Given the description of an element on the screen output the (x, y) to click on. 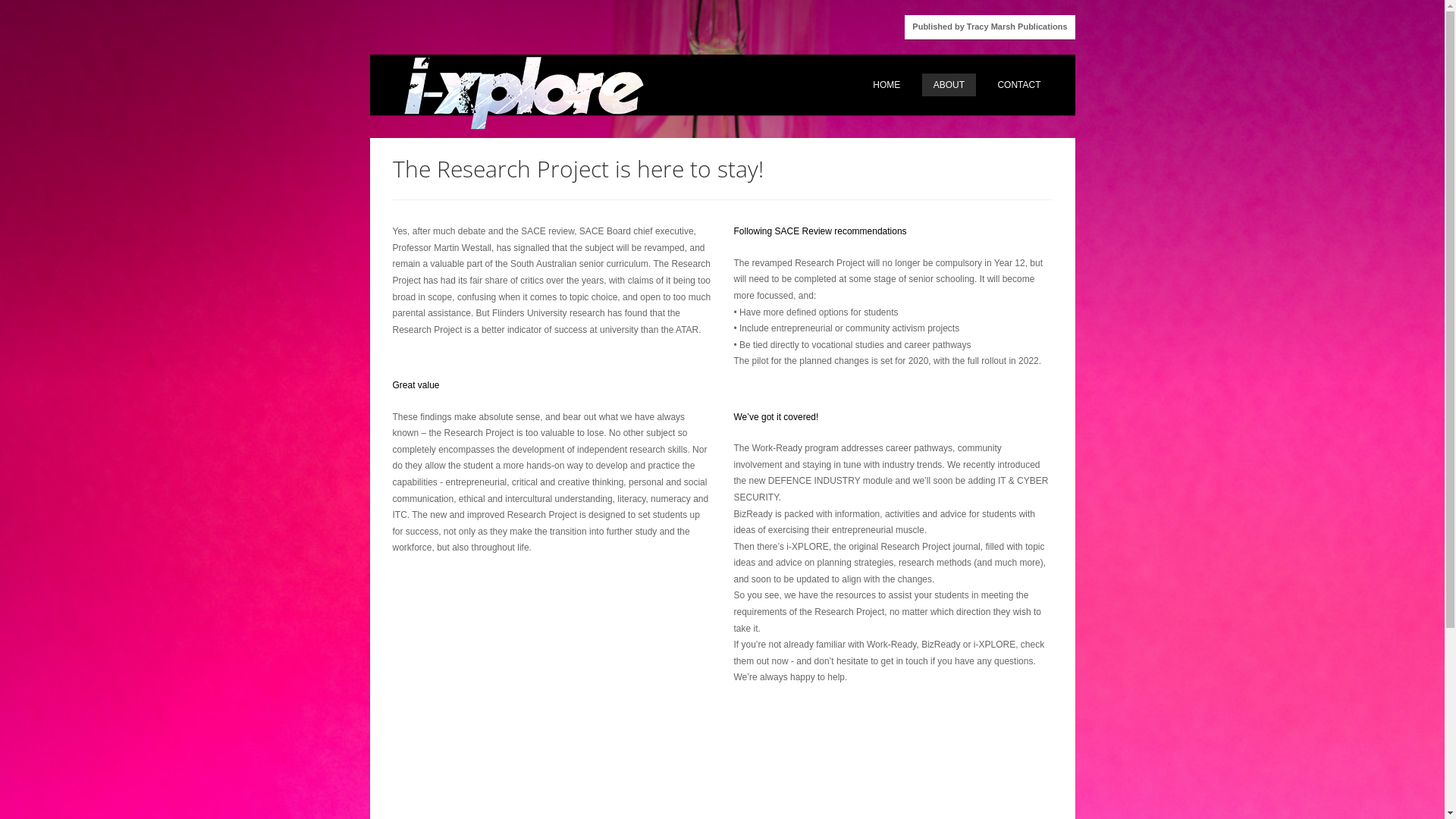
CONTACT Element type: text (1018, 84)
HOME Element type: text (886, 84)
ABOUT Element type: text (948, 84)
